Given the description of an element on the screen output the (x, y) to click on. 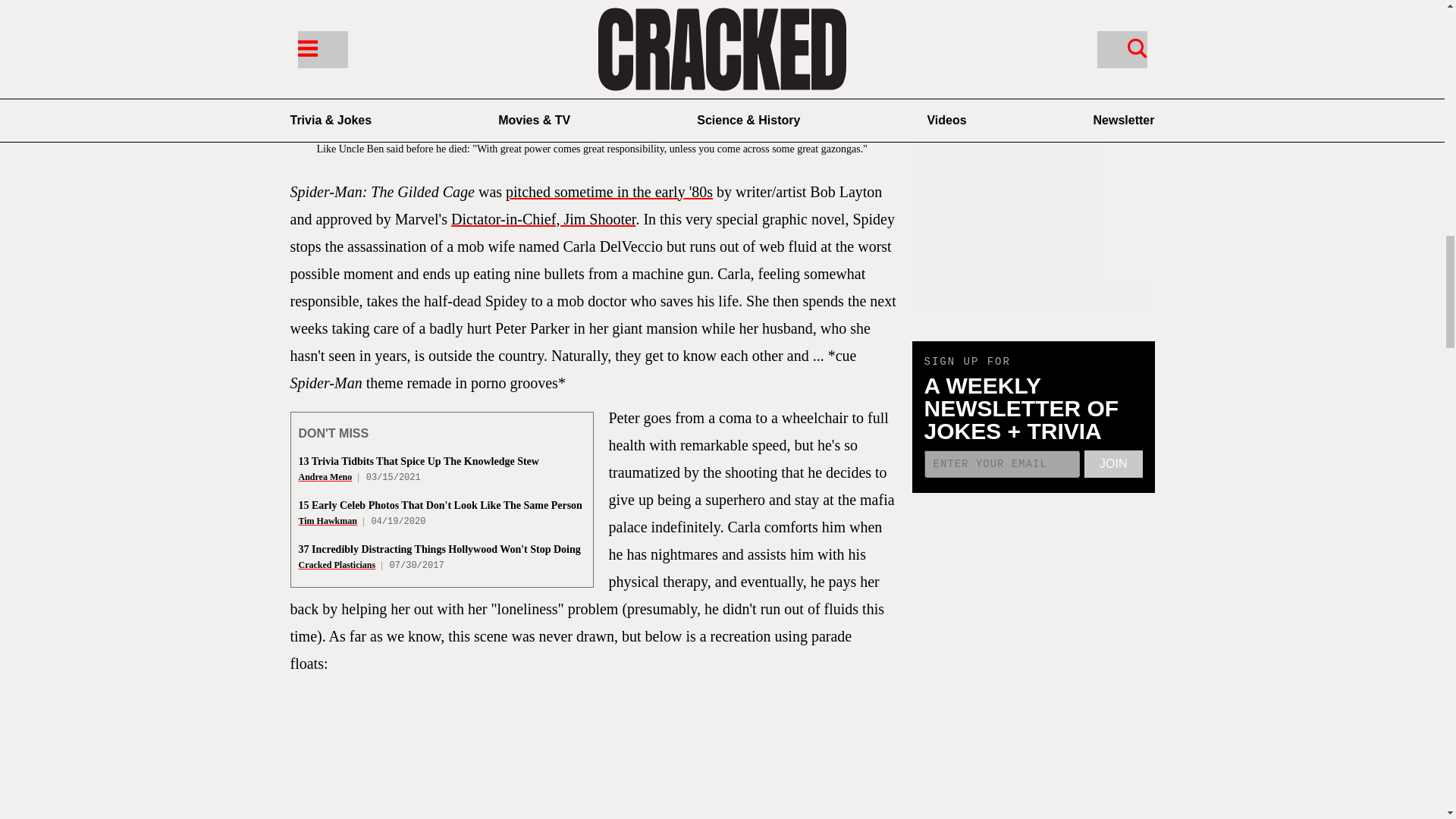
Dictator-in-Chief, Jim Shooter (542, 218)
pitched sometime in the early '80s (609, 191)
13 Trivia Tidbits That Spice Up The Knowledge Stew (418, 460)
